Given the description of an element on the screen output the (x, y) to click on. 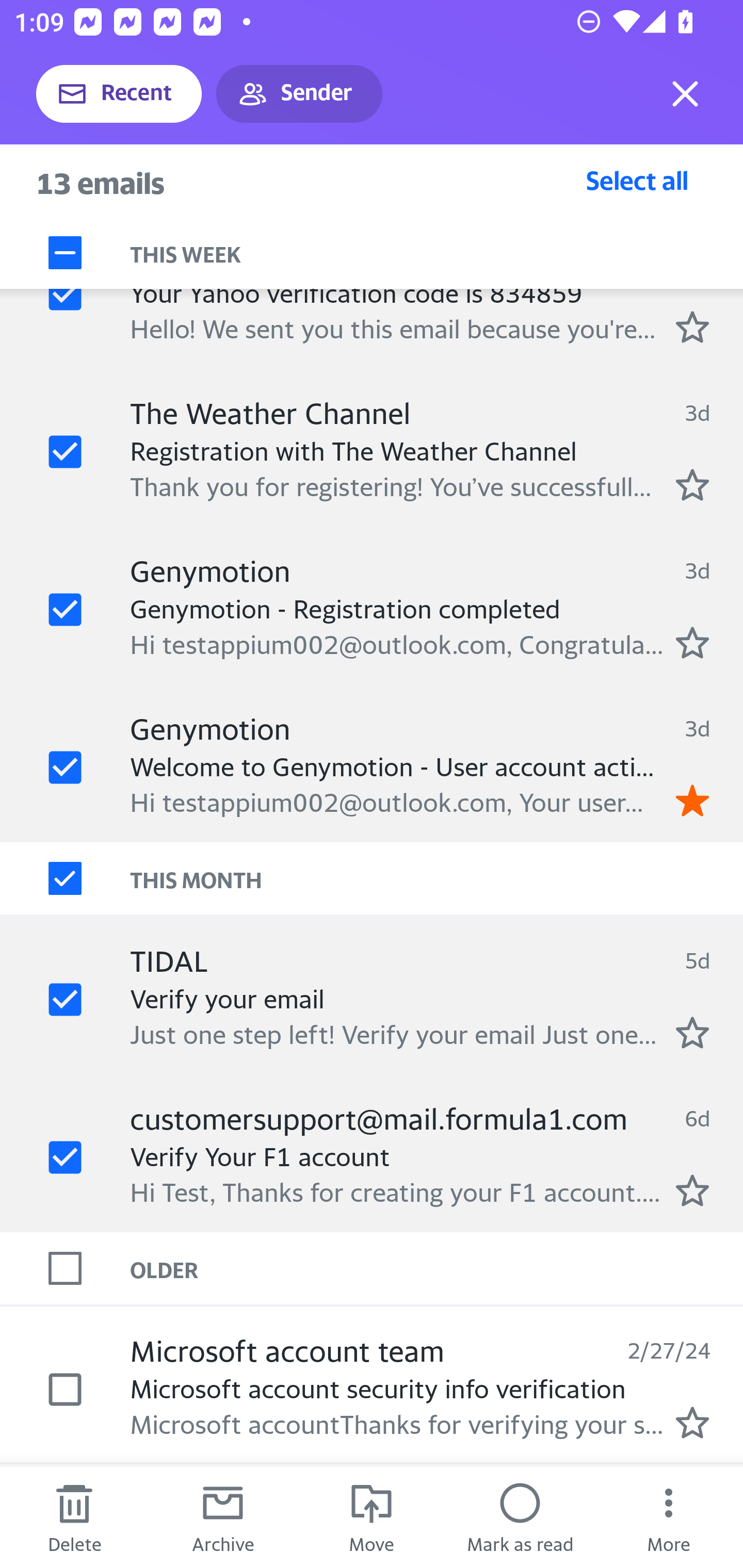
Sender (299, 93)
Exit selection mode (684, 93)
Select all (637, 180)
Mark as starred. (692, 326)
Mark as starred. (692, 485)
Mark as starred. (692, 642)
Remove star. (692, 800)
THIS MONTH (436, 878)
Mark as starred. (692, 1032)
Mark as starred. (692, 1190)
OLDER (436, 1267)
Mark as starred. (692, 1422)
Delete (74, 1517)
Archive (222, 1517)
Move (371, 1517)
Mark as read (519, 1517)
More (668, 1517)
